Given the description of an element on the screen output the (x, y) to click on. 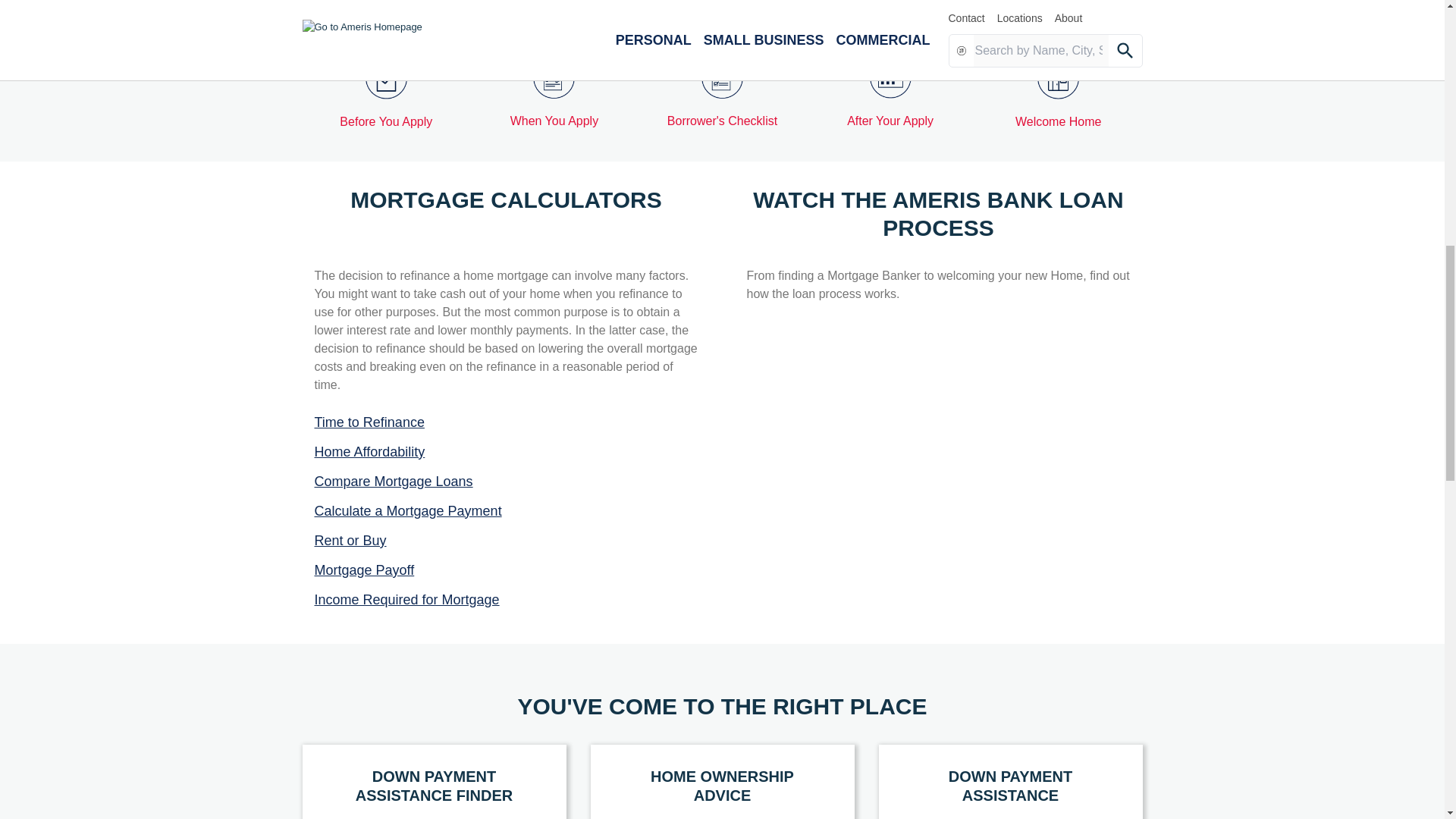
When You Apply (554, 93)
Home Affordability (505, 452)
Time to Refinance (505, 422)
Rent or Buy (505, 540)
Compare Mortgage Loans (505, 481)
Mortgage Payoff (505, 570)
After Your Apply (890, 93)
Income Required for Mortgage (505, 599)
Before You Apply (386, 93)
Welcome Home (1058, 93)
